Given the description of an element on the screen output the (x, y) to click on. 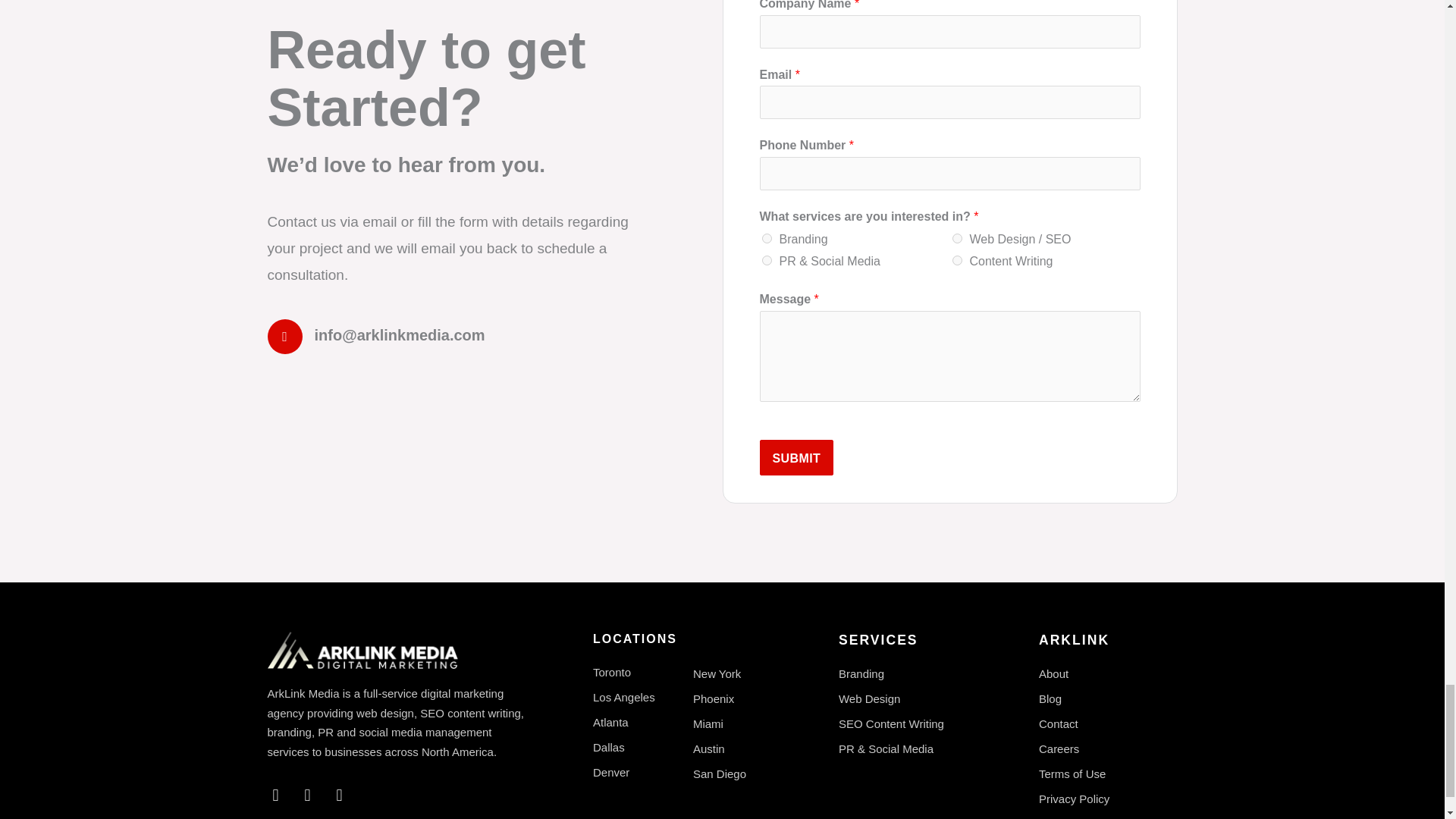
Branding (766, 238)
Content Writing  (957, 260)
